Given the description of an element on the screen output the (x, y) to click on. 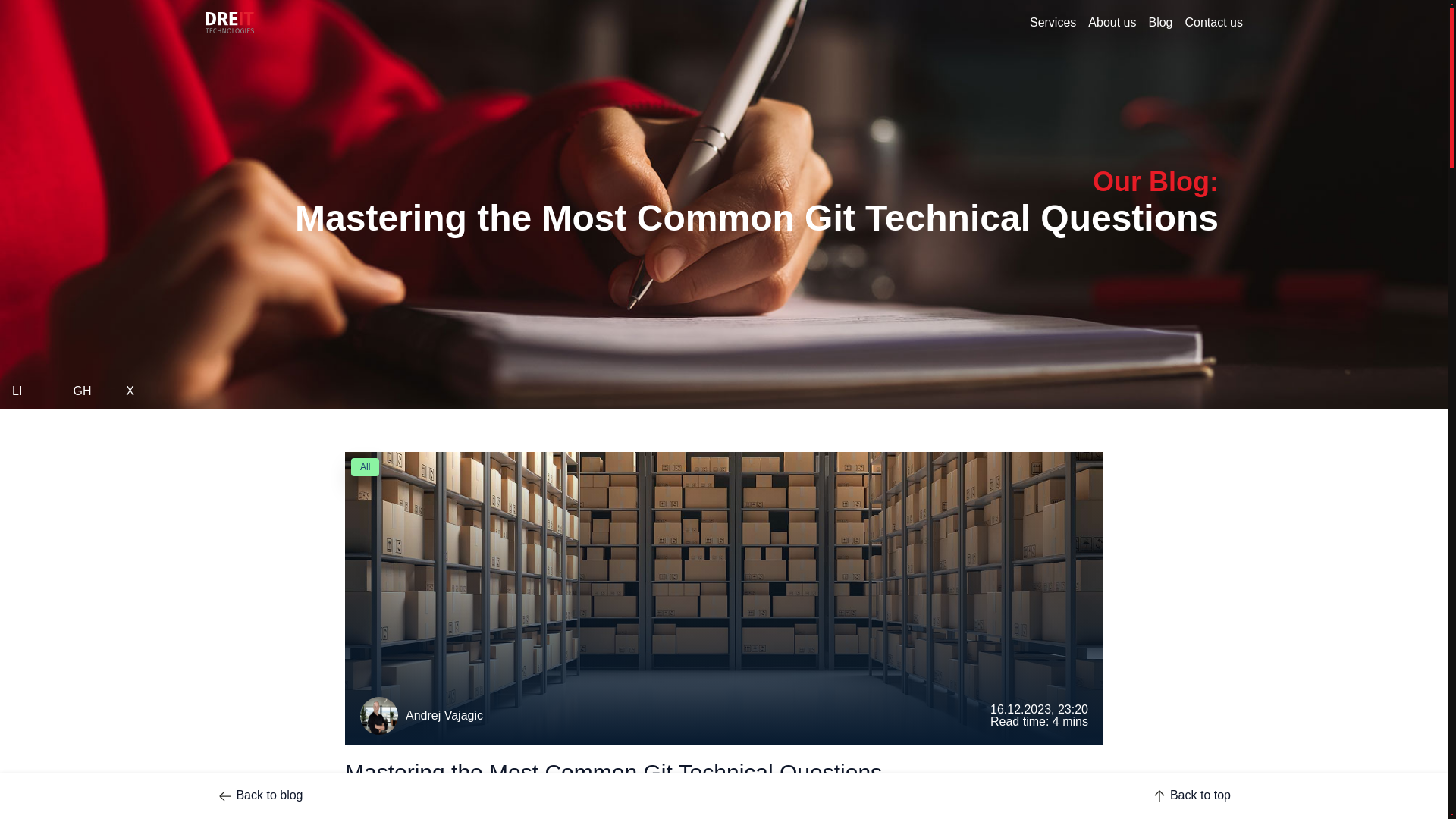
Back to blog (259, 794)
Contact us (1211, 21)
LI (34, 390)
Blog (1156, 21)
About us (1108, 21)
GH (91, 390)
X (143, 390)
Services (1049, 21)
Back to top (1190, 795)
